Given the description of an element on the screen output the (x, y) to click on. 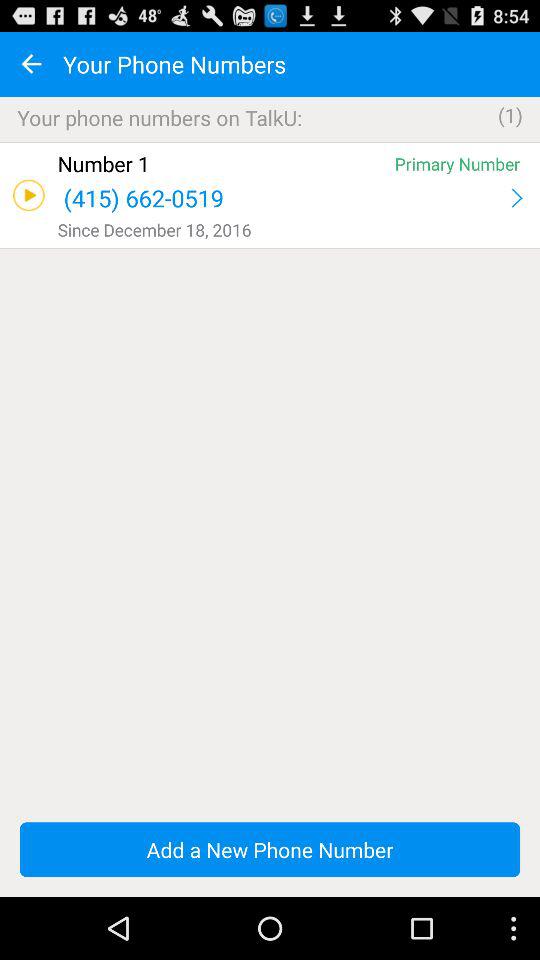
launch icon to the left of primary number icon (222, 163)
